Given the description of an element on the screen output the (x, y) to click on. 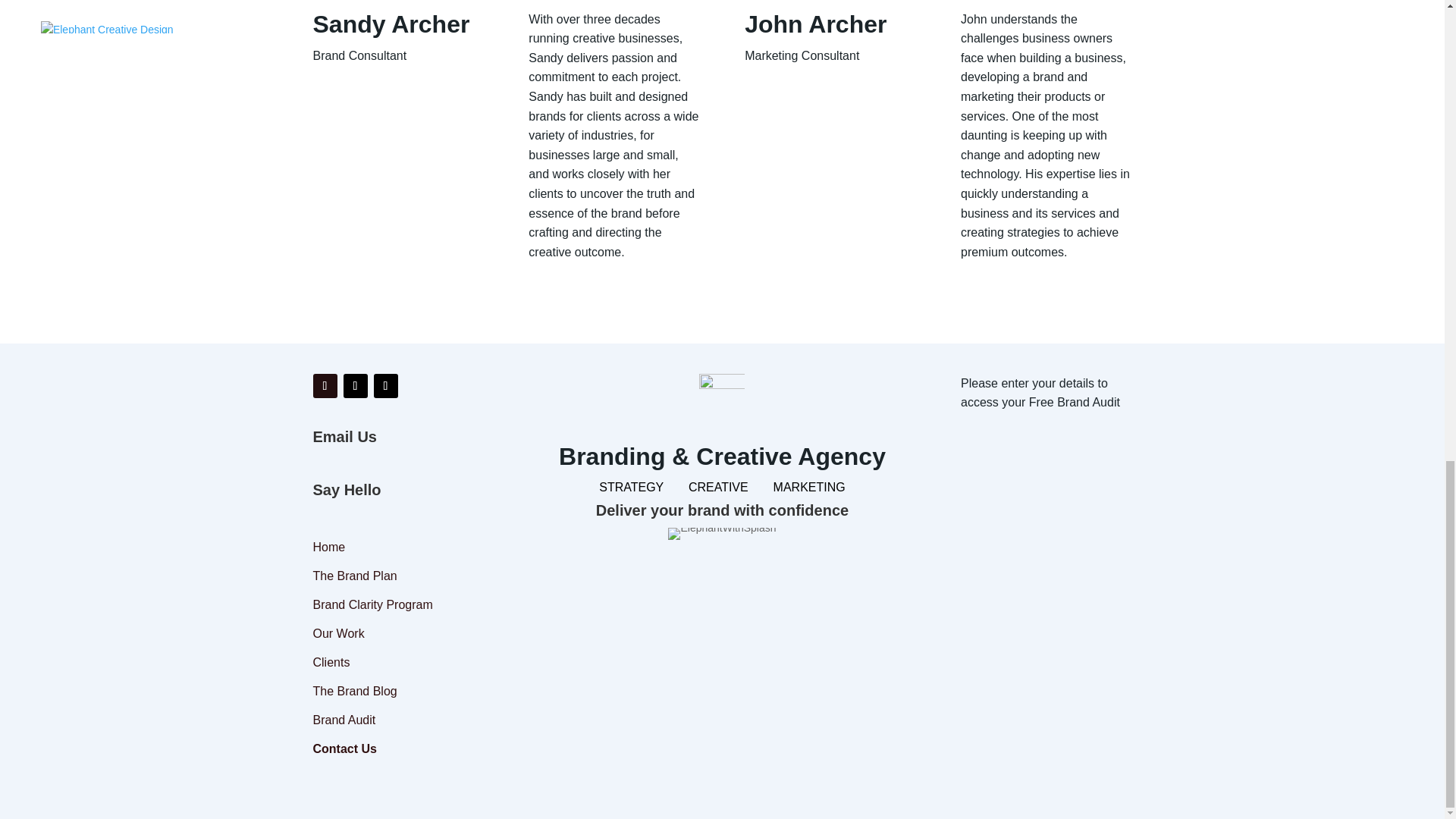
Follow on LinkedIn (324, 385)
Home (398, 547)
Say Hello (346, 489)
Clients (398, 663)
CREATIVE (718, 486)
The Brand Blog (398, 691)
Follow on Facebook (384, 385)
MARKETING (809, 486)
Brand Clarity Program (398, 605)
Our Work (398, 634)
